Given the description of an element on the screen output the (x, y) to click on. 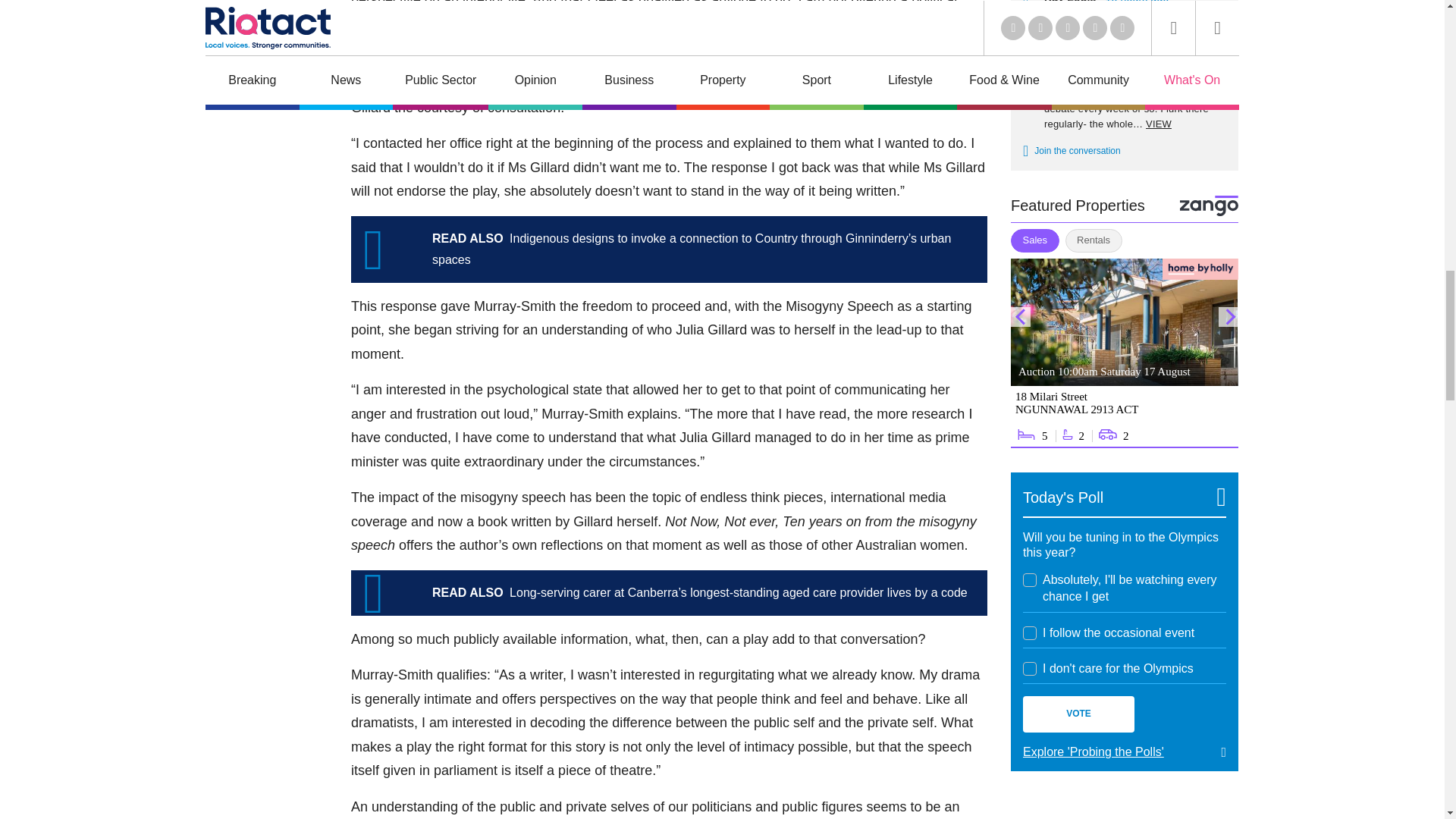
2045 (1029, 668)
3rd party ad content (1124, 807)
   Vote    (1078, 714)
Zango (1209, 205)
Zango Sales (1124, 352)
2043 (1029, 580)
2044 (1029, 632)
